Given the description of an element on the screen output the (x, y) to click on. 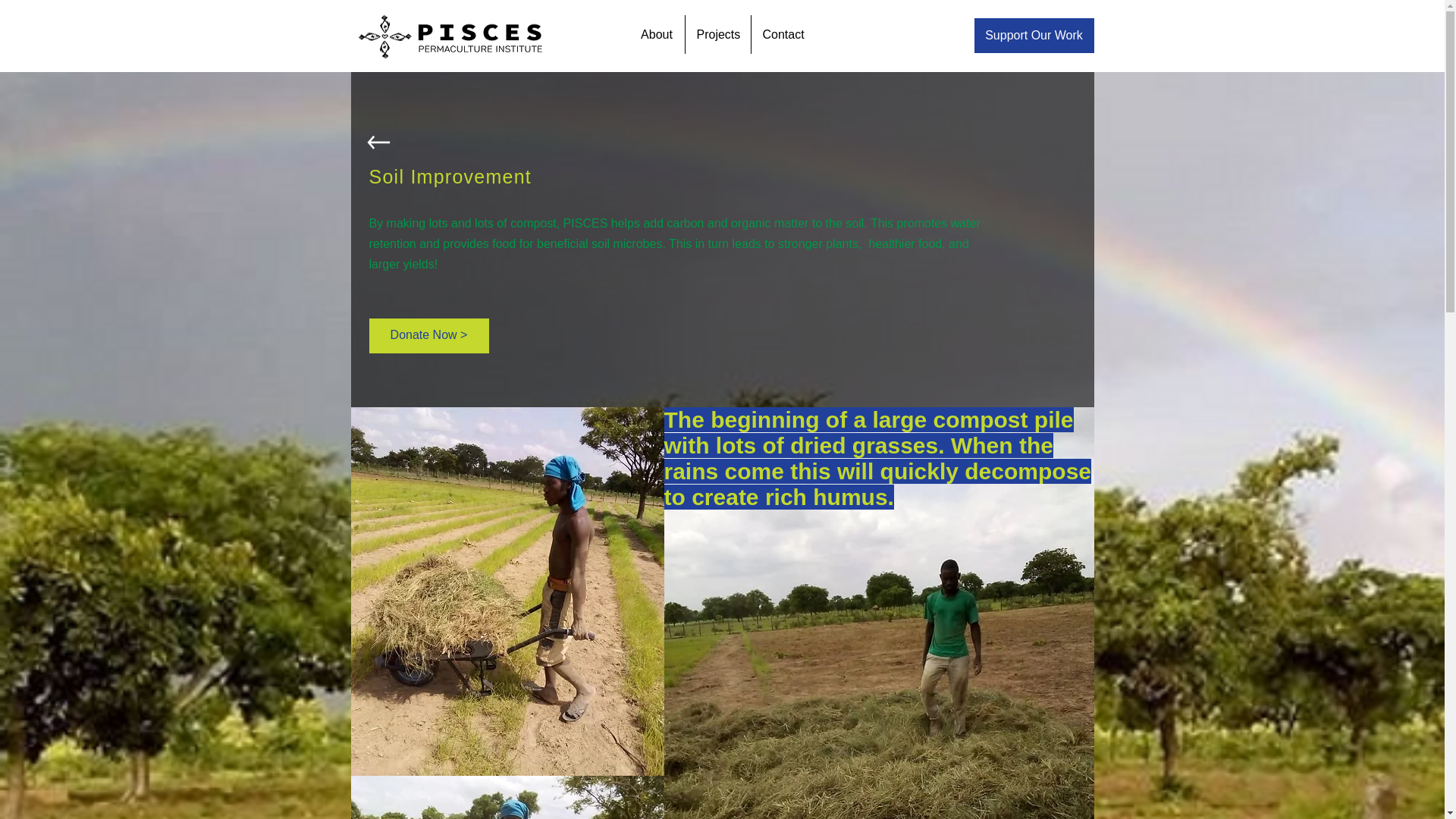
Contact (783, 34)
Support Our Work (1033, 35)
Projects (716, 34)
About (656, 34)
